Given the description of an element on the screen output the (x, y) to click on. 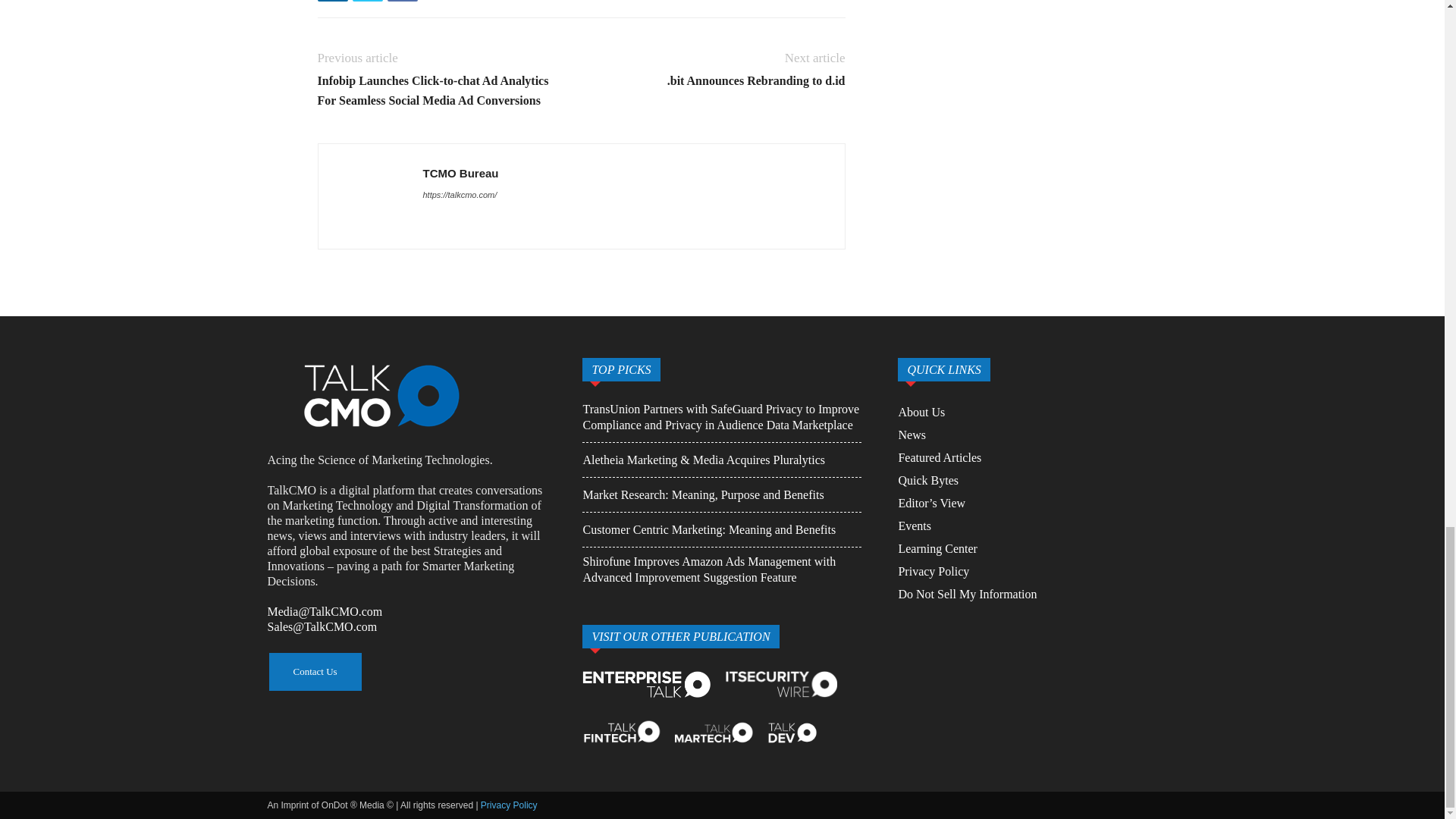
Twitter (366, 0)
Linkedin (332, 0)
Facebook (401, 0)
